Given the description of an element on the screen output the (x, y) to click on. 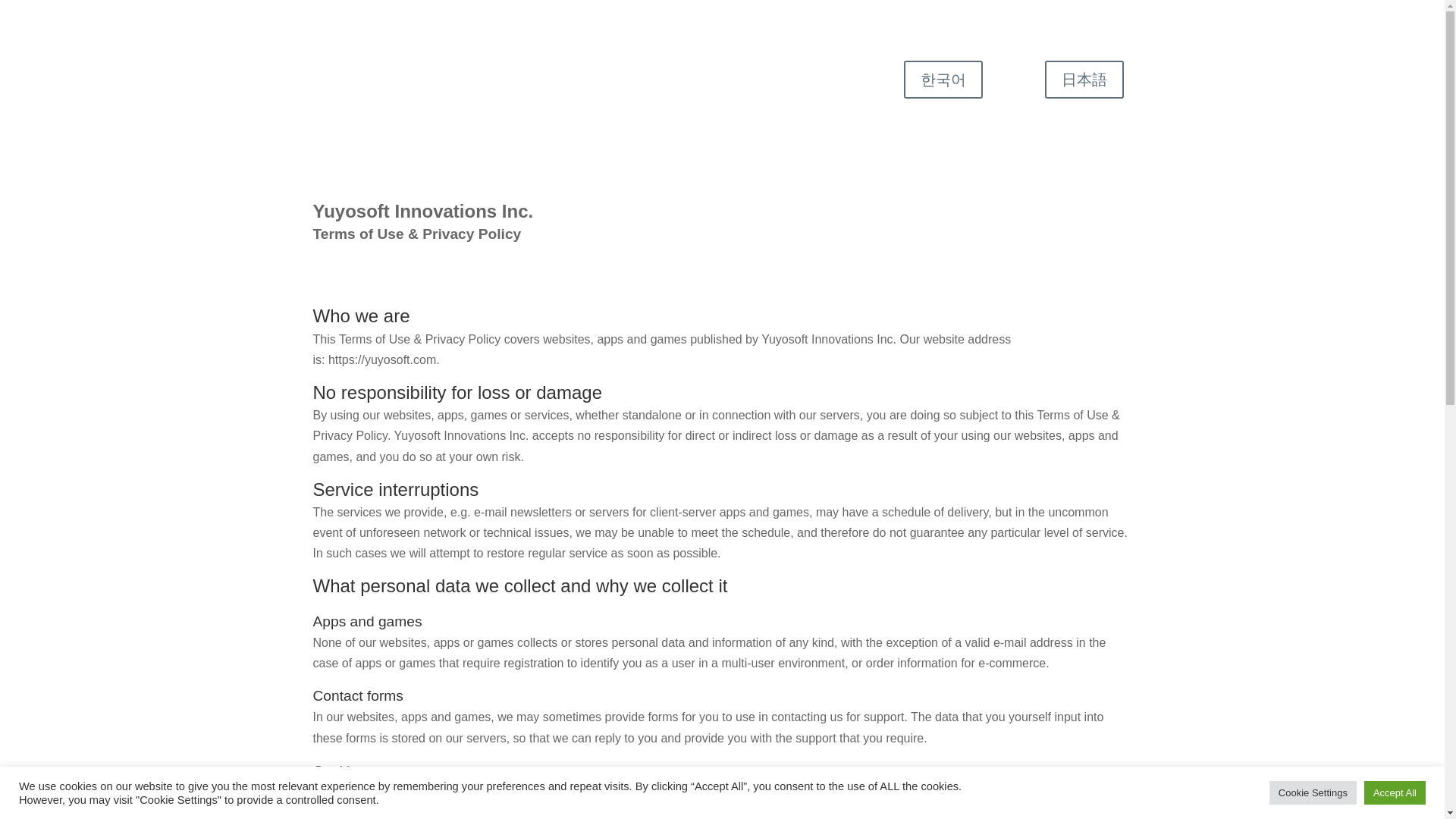
Cookie Settings (1312, 792)
Accept All (1394, 792)
